Given the description of an element on the screen output the (x, y) to click on. 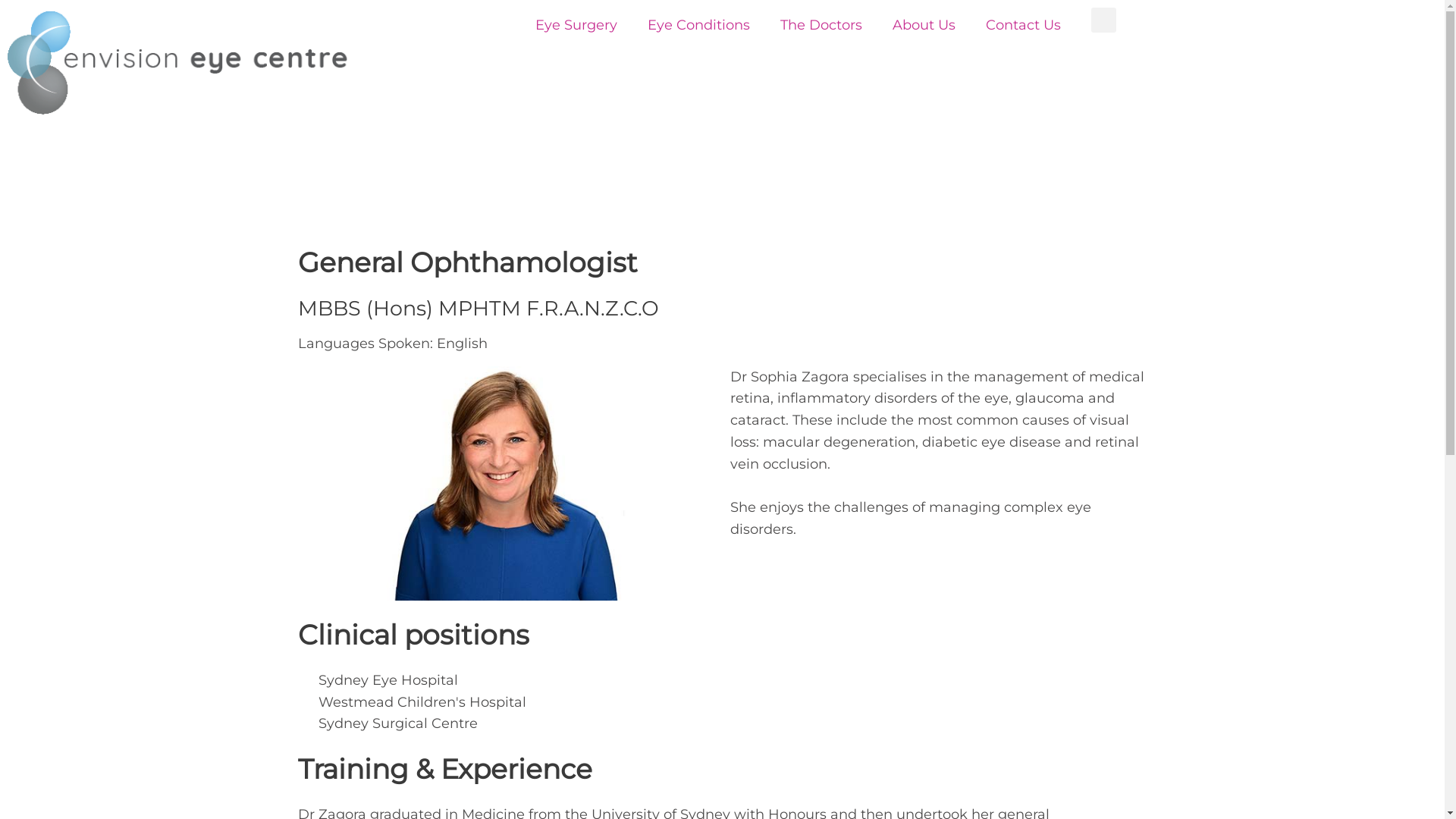
Eye Surgery Element type: text (576, 24)
The Doctors Element type: text (821, 24)
About Us Element type: text (923, 24)
Eye Conditions Element type: text (698, 24)
Contact Us Element type: text (1023, 24)
